Given the description of an element on the screen output the (x, y) to click on. 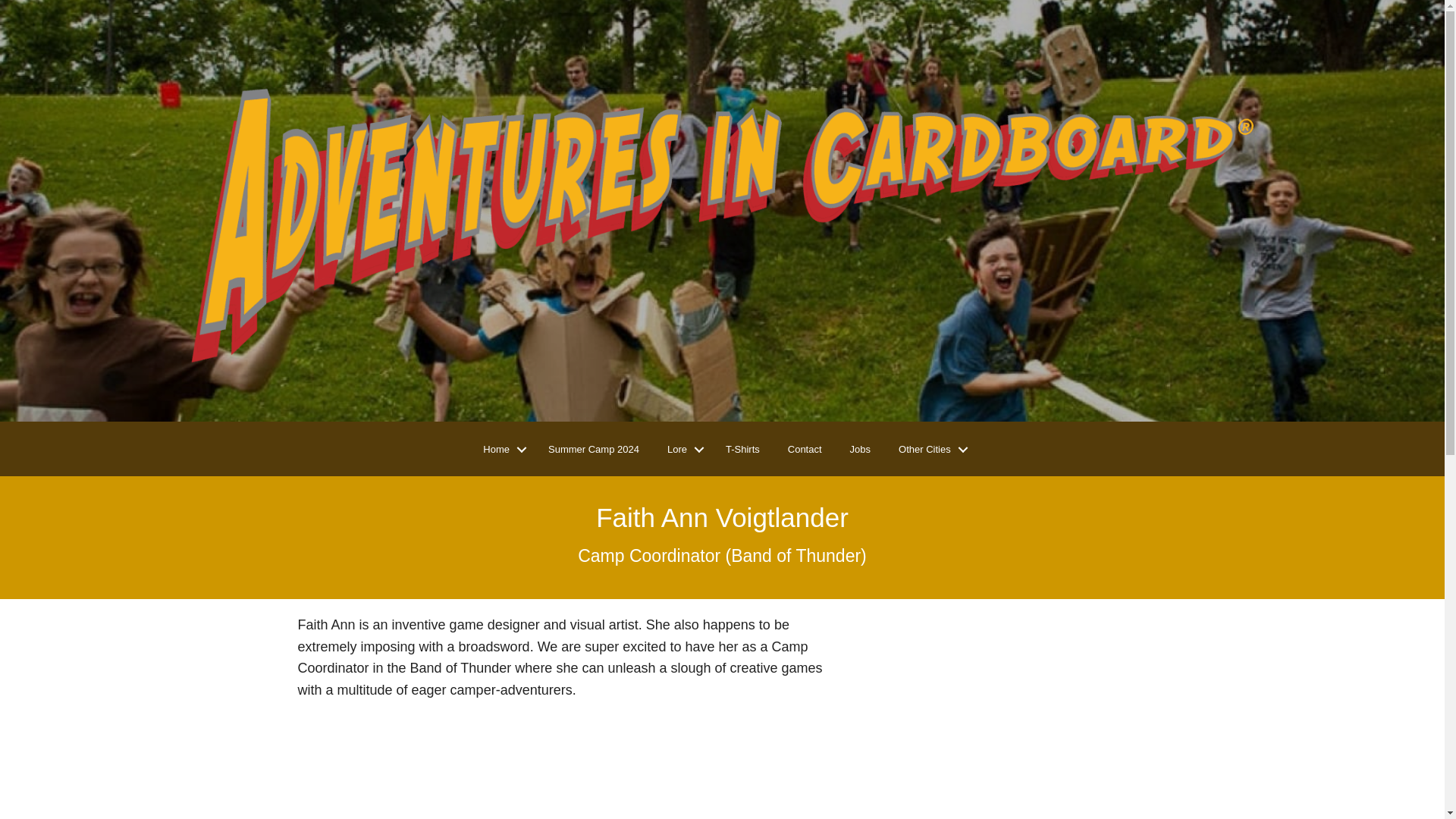
Other Cities (930, 449)
faun faithann (1005, 716)
Home (501, 449)
Lore (682, 449)
T-Shirts (742, 449)
Contact (804, 449)
Jobs (859, 449)
Summer Camp 2024 (593, 449)
